Given the description of an element on the screen output the (x, y) to click on. 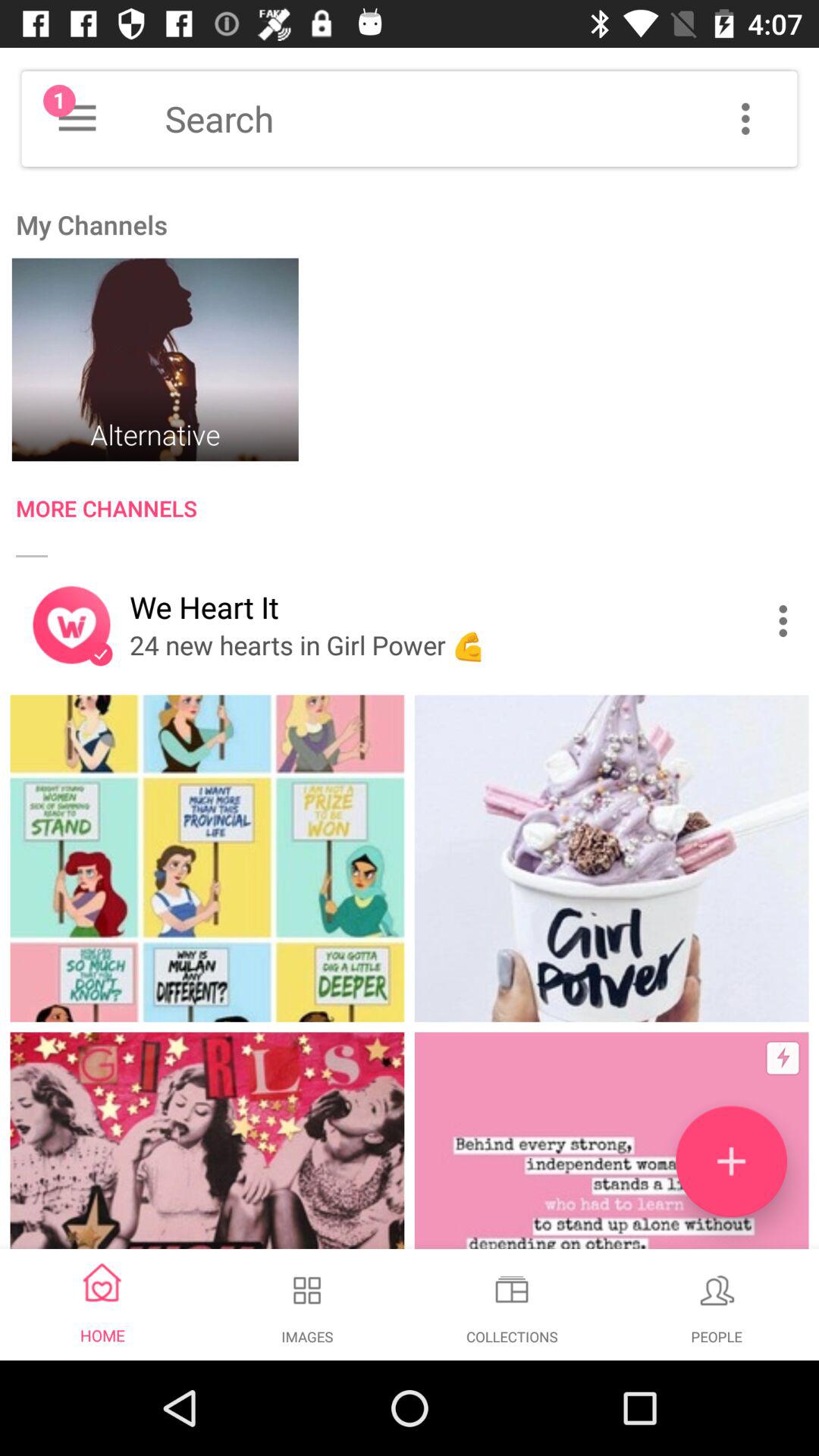
clique aqui para fazer buscas (480, 118)
